Given the description of an element on the screen output the (x, y) to click on. 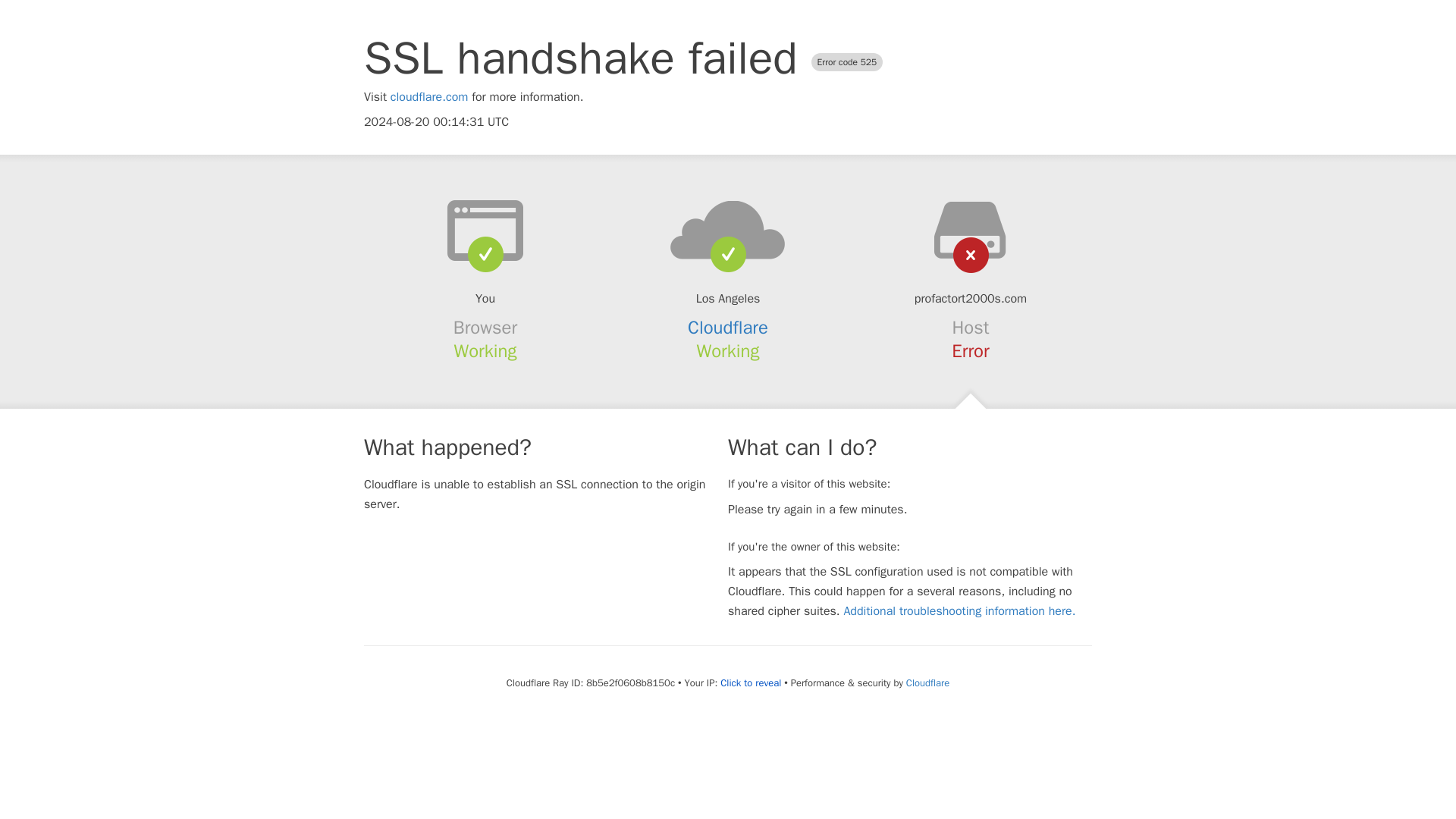
Click to reveal (750, 683)
cloudflare.com (429, 96)
Cloudflare (727, 327)
Additional troubleshooting information here. (959, 611)
Cloudflare (927, 682)
